Given the description of an element on the screen output the (x, y) to click on. 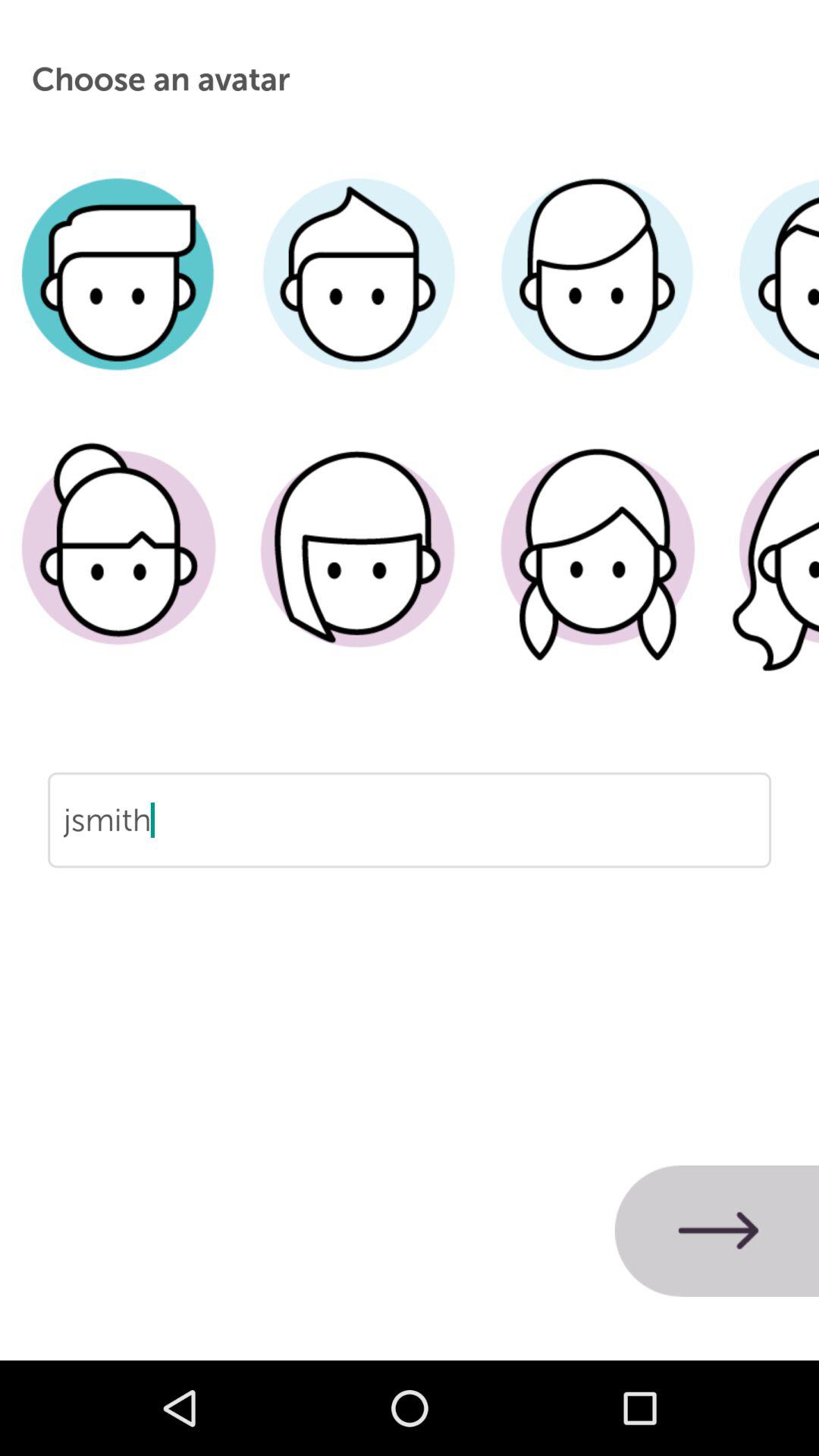
pick avatar (357, 570)
